Given the description of an element on the screen output the (x, y) to click on. 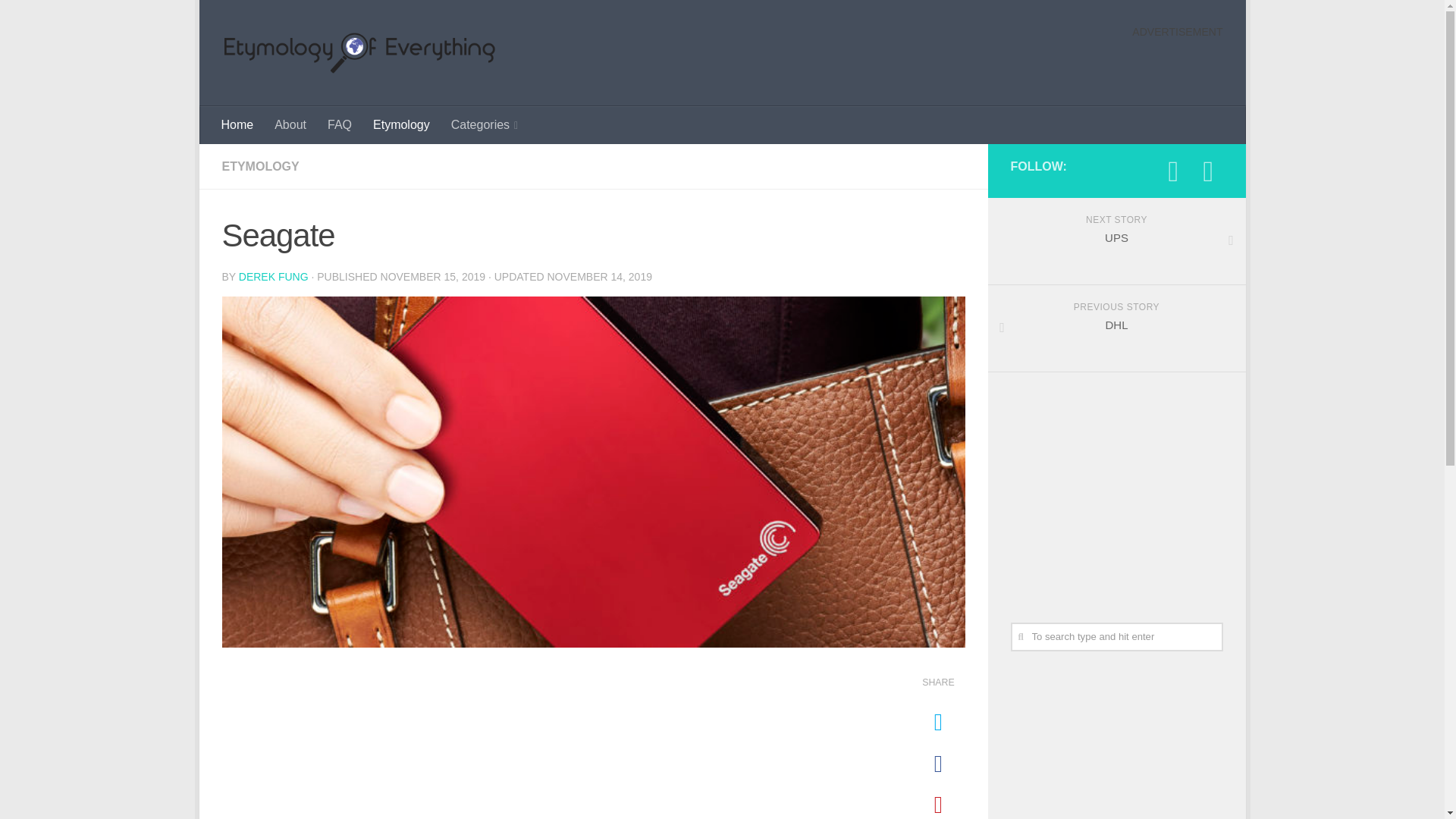
Follow us on Twitter (1208, 171)
Etymology (1115, 241)
Advertisement (401, 125)
Categories (1115, 486)
Home (485, 125)
To search type and hit enter (237, 125)
To search type and hit enter (1116, 636)
About (1116, 636)
Posts by Derek Fung (290, 125)
